Given the description of an element on the screen output the (x, y) to click on. 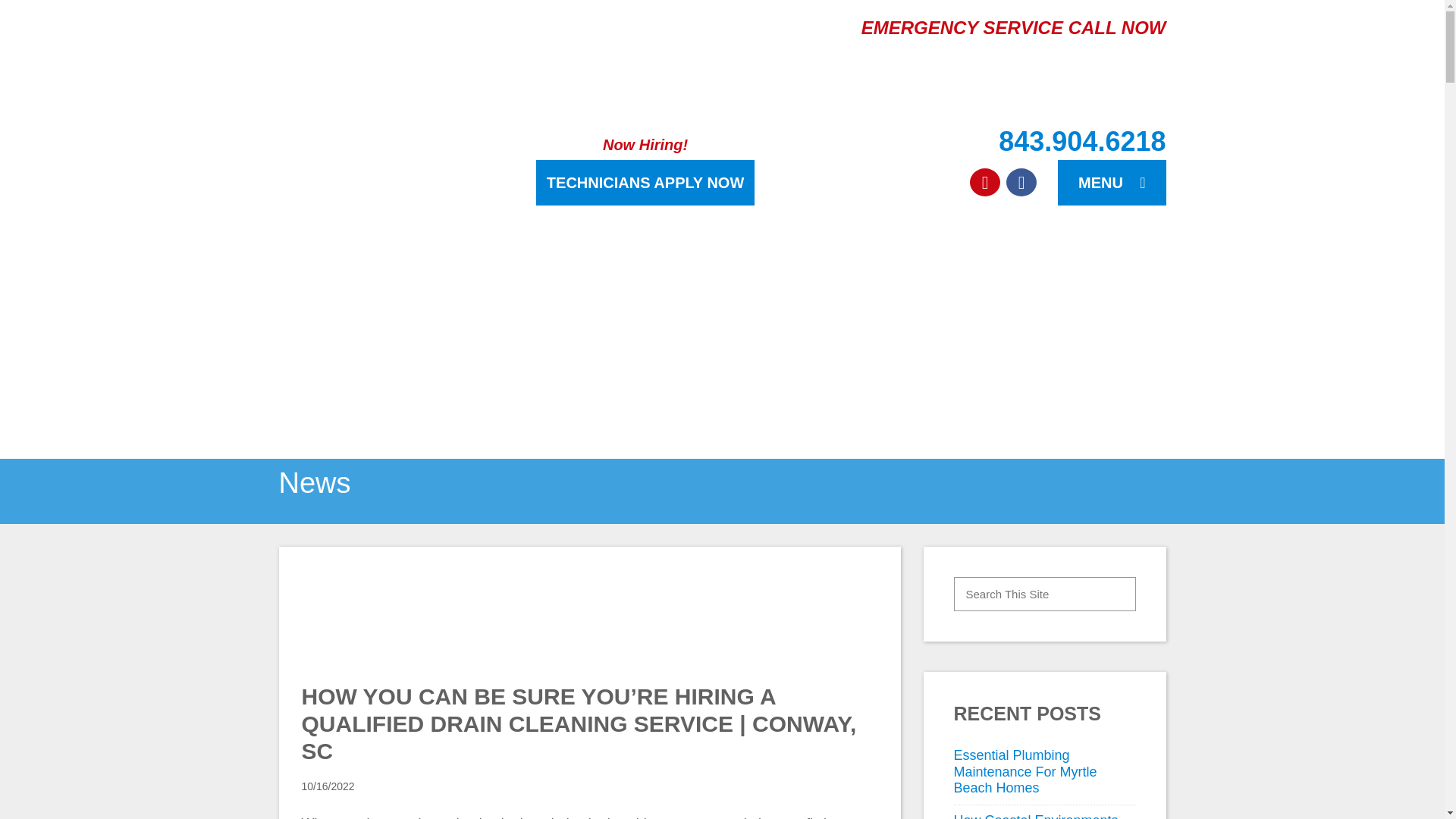
TECHNICIANS APPLY NOW (644, 182)
843.904.6218 (964, 141)
